Given the description of an element on the screen output the (x, y) to click on. 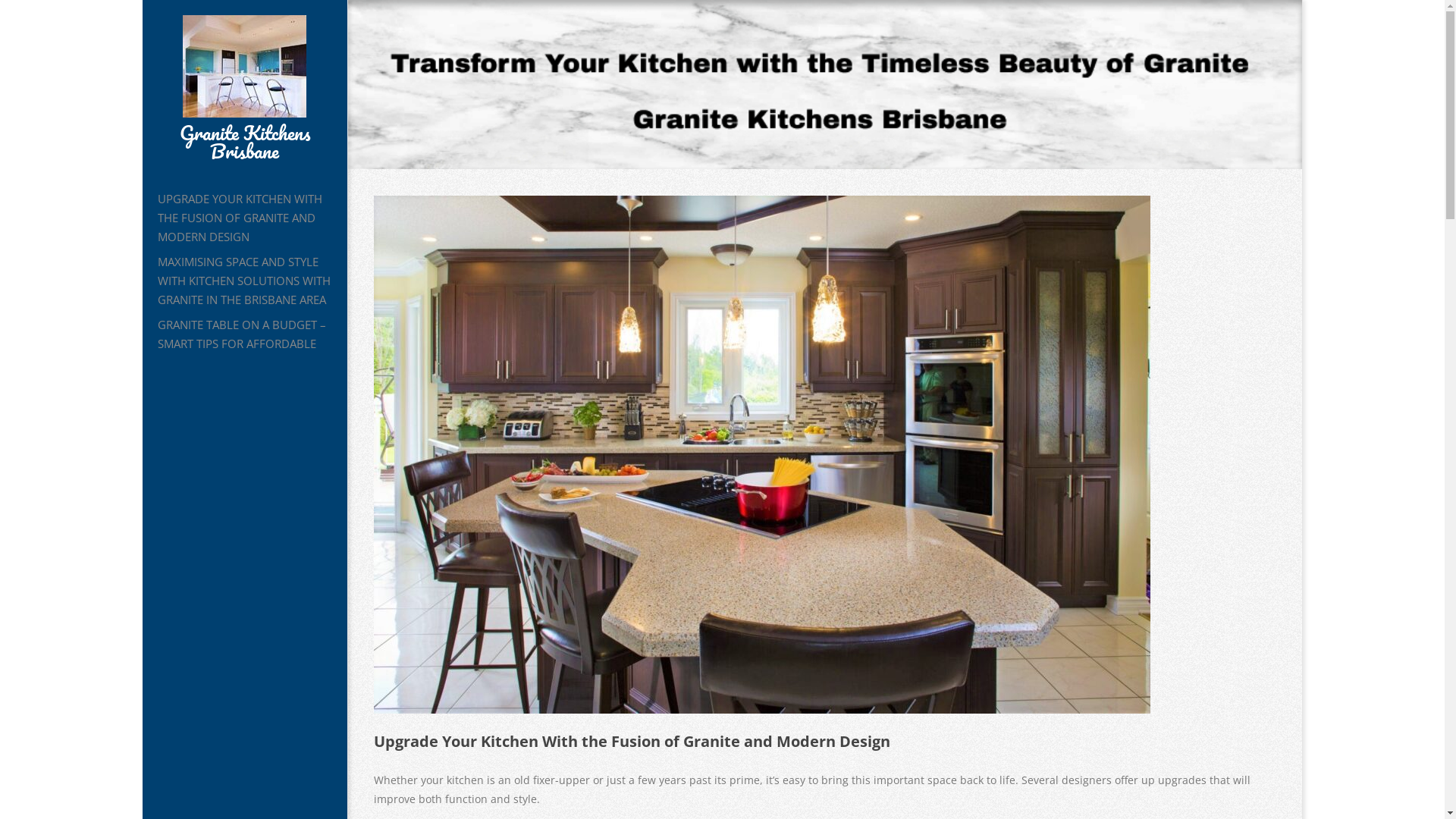
Granite Kitchens Brisbane Element type: text (244, 141)
